Given the description of an element on the screen output the (x, y) to click on. 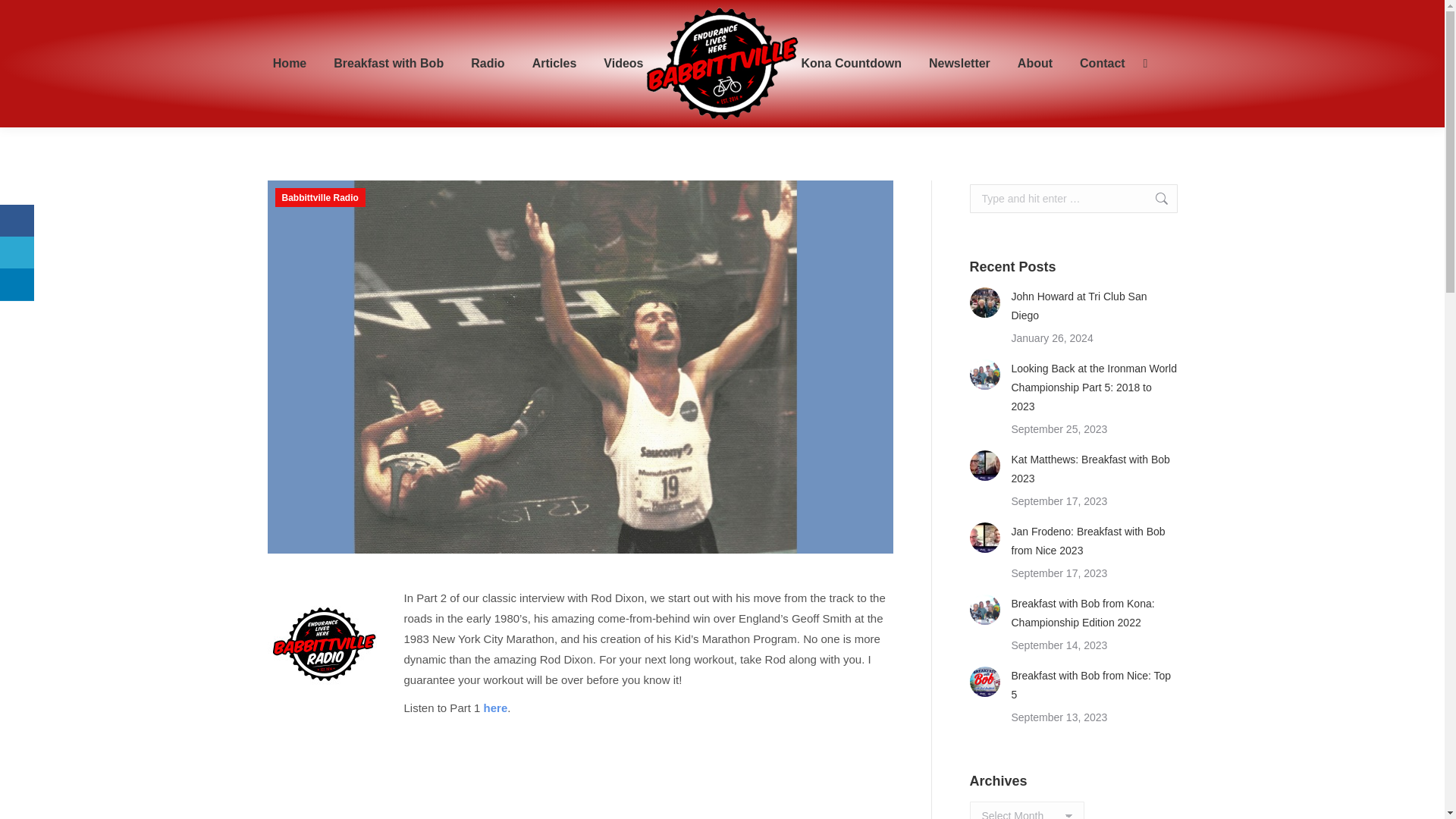
Go! (24, 16)
Go! (1153, 198)
Breakfast with Bob (388, 63)
Go! (1153, 198)
Kona Countdown (850, 63)
